Given the description of an element on the screen output the (x, y) to click on. 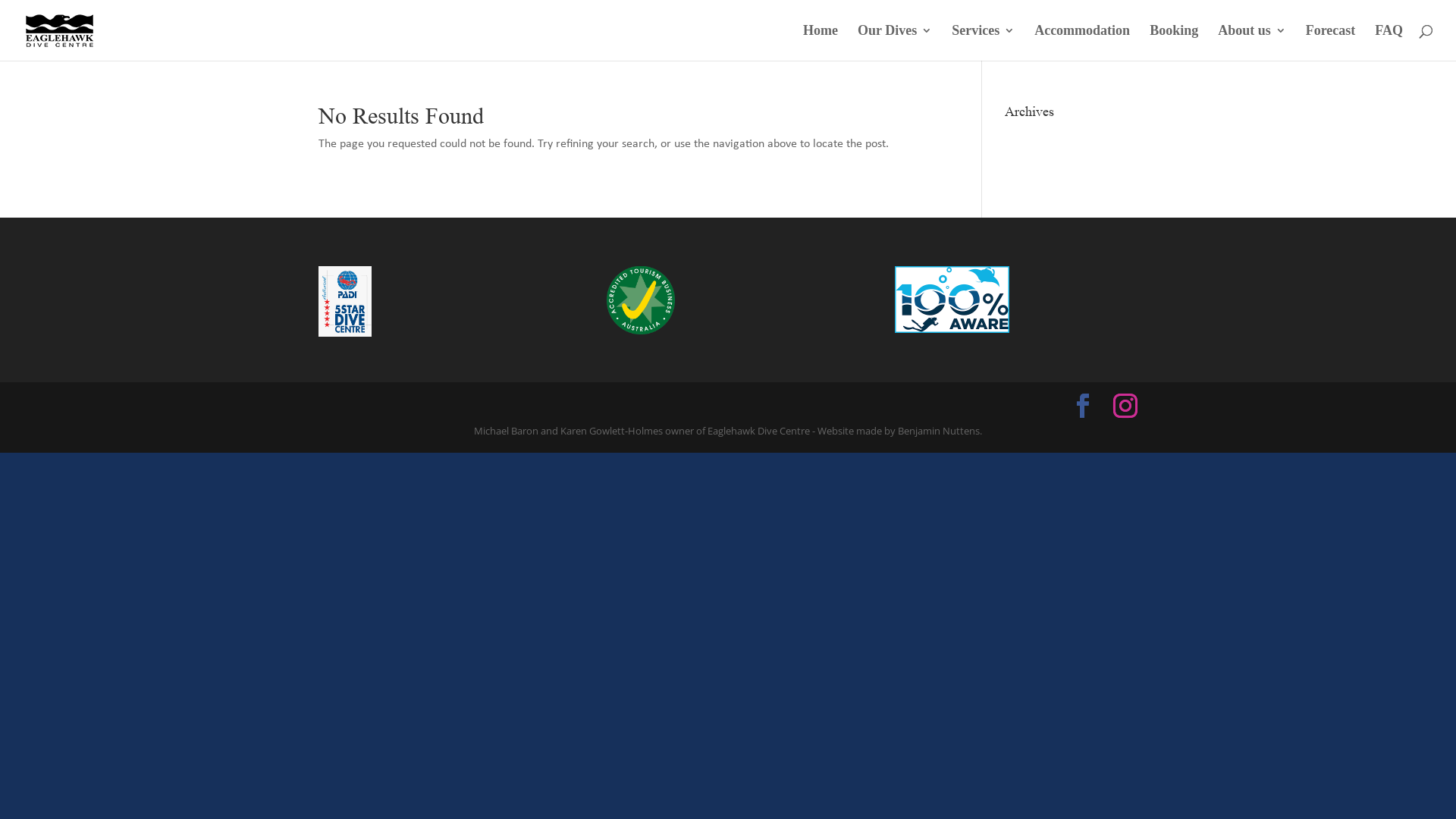
Booking Element type: text (1173, 42)
About us Element type: text (1251, 42)
Services Element type: text (982, 42)
Our Dives Element type: text (894, 42)
FAQ Element type: text (1388, 42)
Accommodation Element type: text (1081, 42)
Home Element type: text (820, 42)
Forecast Element type: text (1330, 42)
